Given the description of an element on the screen output the (x, y) to click on. 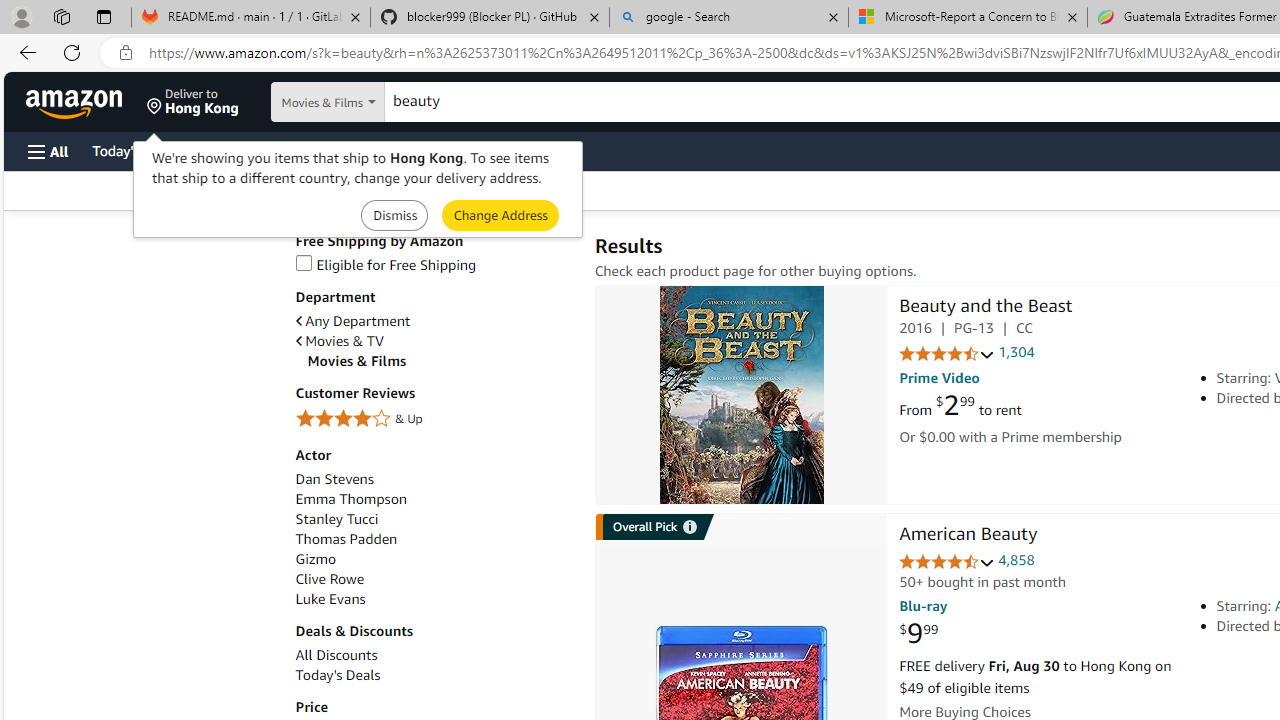
$9.99 (918, 634)
Prime Video (939, 378)
4 Stars & Up (434, 419)
Gizmo (315, 559)
Deliver to Hong Kong (193, 101)
4 Stars & Up& Up (434, 420)
Skip to main content (86, 100)
Thomas Padden (434, 539)
4,858 (1016, 560)
Blu-ray (923, 606)
Eligible for Free Shipping (385, 264)
google - Search (729, 17)
